Given the description of an element on the screen output the (x, y) to click on. 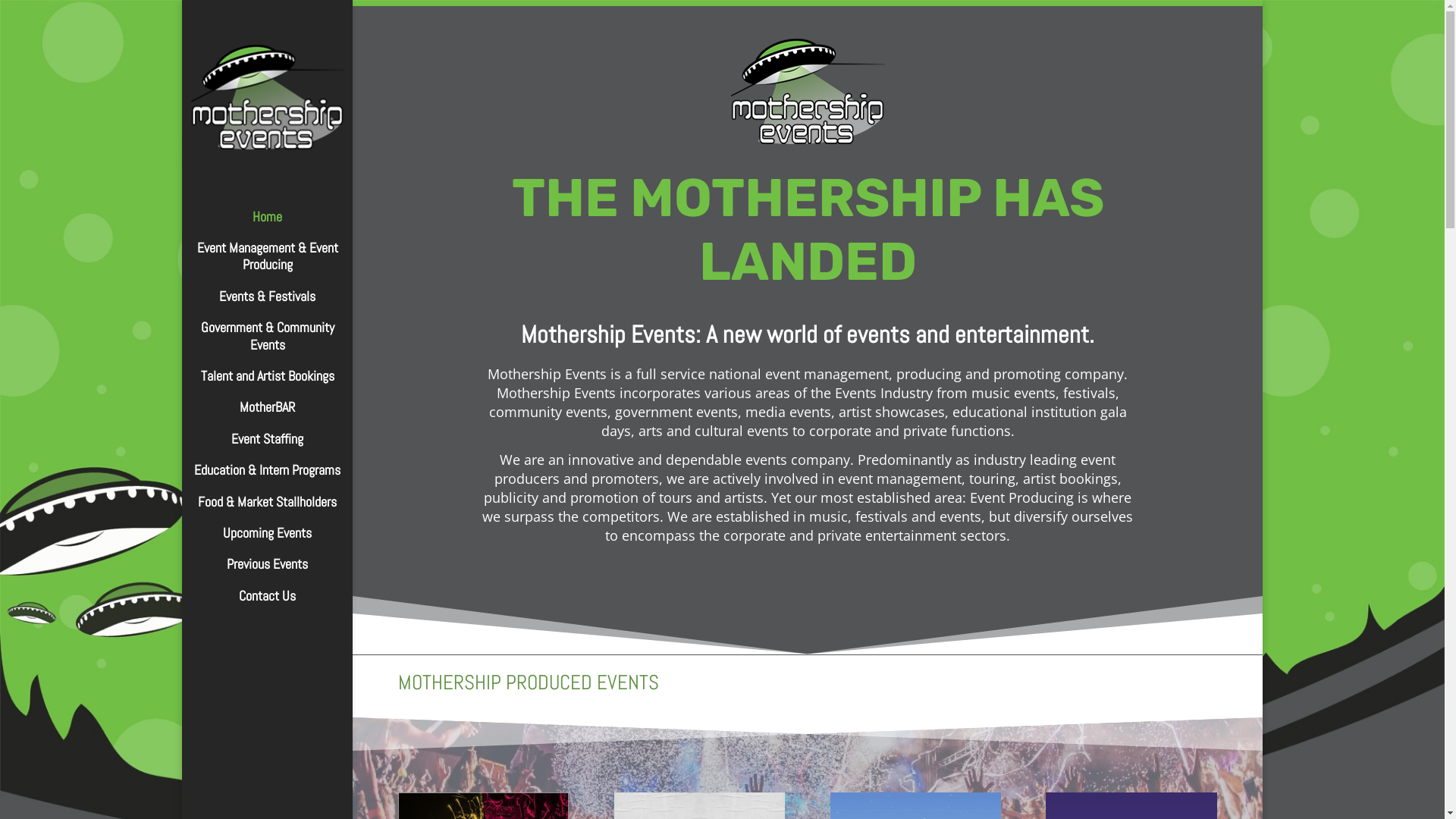
Event Management & Event Producing Element type: text (282, 263)
MotherBAR Element type: text (282, 413)
Government & Community Events Element type: text (282, 343)
Food & Market Stallholders Element type: text (282, 508)
Talent and Artist Bookings Element type: text (282, 382)
Contact Us Element type: text (282, 602)
Upcoming Events Element type: text (282, 539)
Events & Festivals Element type: text (282, 303)
Home Element type: text (282, 223)
Previous Events Element type: text (282, 570)
Event Staffing Element type: text (282, 445)
Education & Intern Programs Element type: text (282, 476)
